Given the description of an element on the screen output the (x, y) to click on. 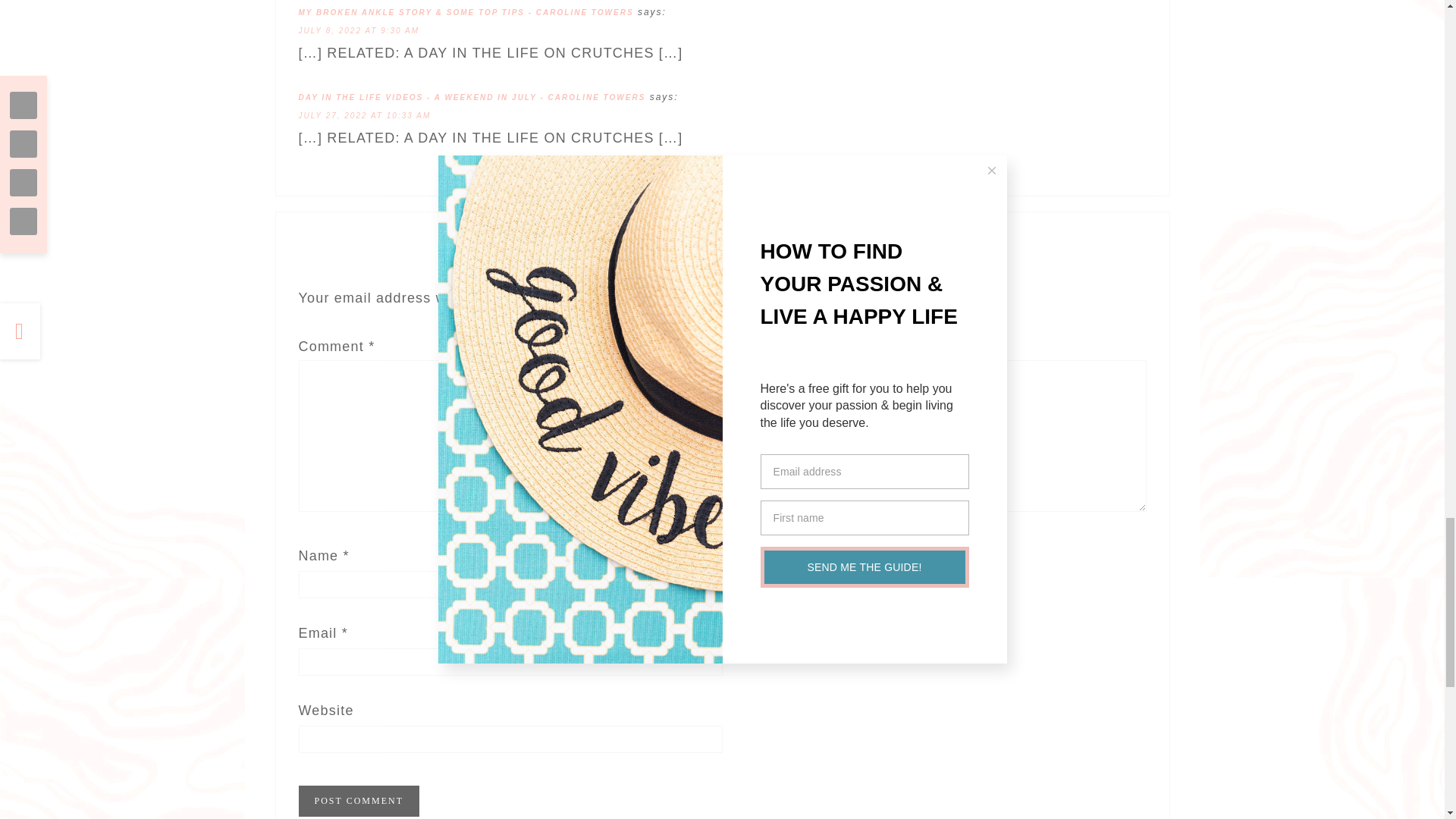
Post Comment (358, 800)
DAY IN THE LIFE VIDEOS - A WEEKEND IN JULY - CAROLINE TOWERS (472, 97)
JULY 27, 2022 AT 10:33 AM (364, 115)
JULY 8, 2022 AT 9:30 AM (359, 30)
